Given the description of an element on the screen output the (x, y) to click on. 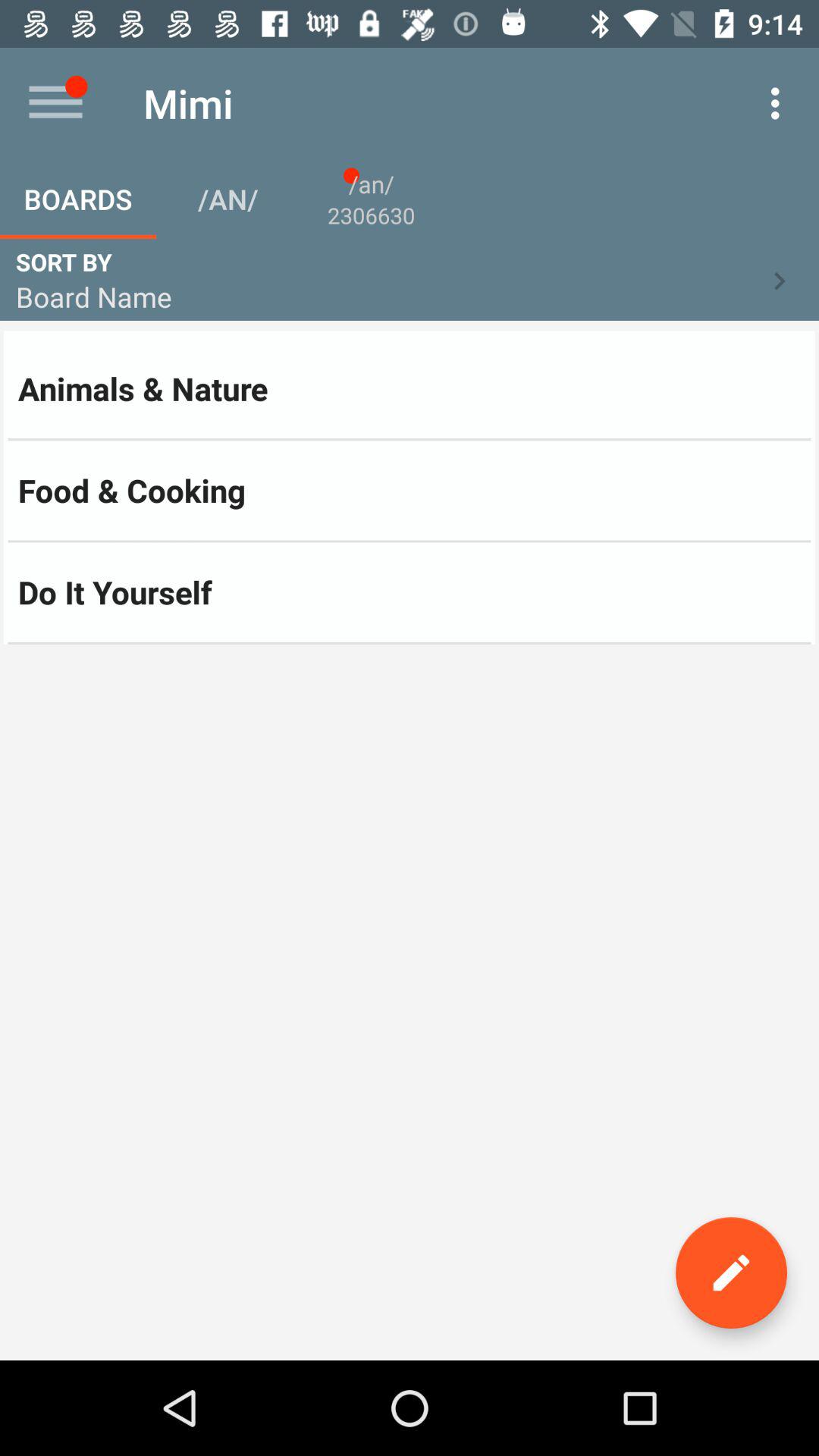
edit information (731, 1272)
